Given the description of an element on the screen output the (x, y) to click on. 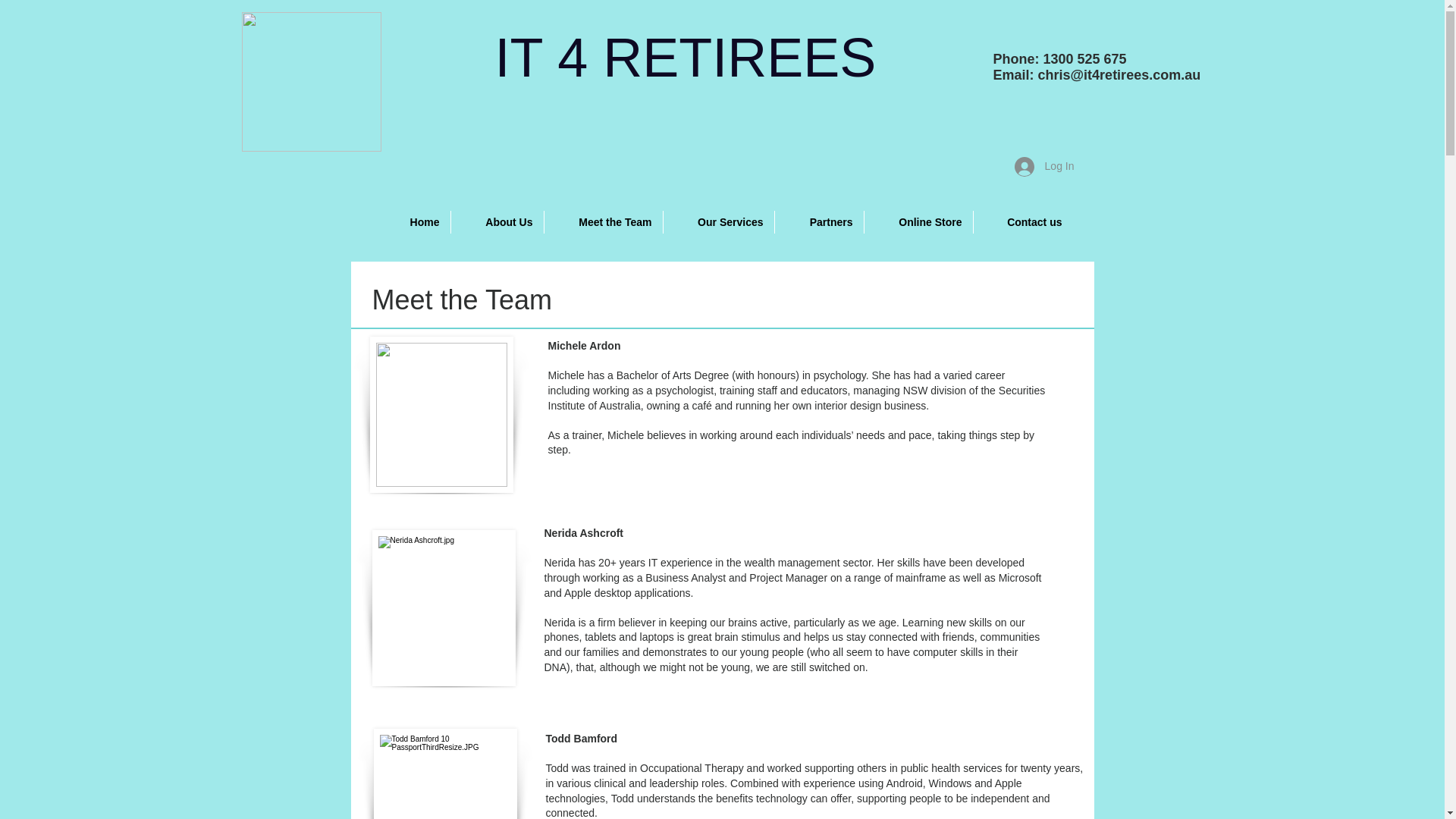
Our Services Element type: text (717, 221)
About Us Element type: text (496, 221)
Meet the Team Element type: text (603, 221)
Log In Element type: text (1044, 166)
Partners Element type: text (819, 221)
Contact us Element type: text (1023, 221)
Home Element type: text (411, 221)
Online Store Element type: text (918, 221)
chris@it4retirees.com.au Element type: text (1119, 74)
